Given the description of an element on the screen output the (x, y) to click on. 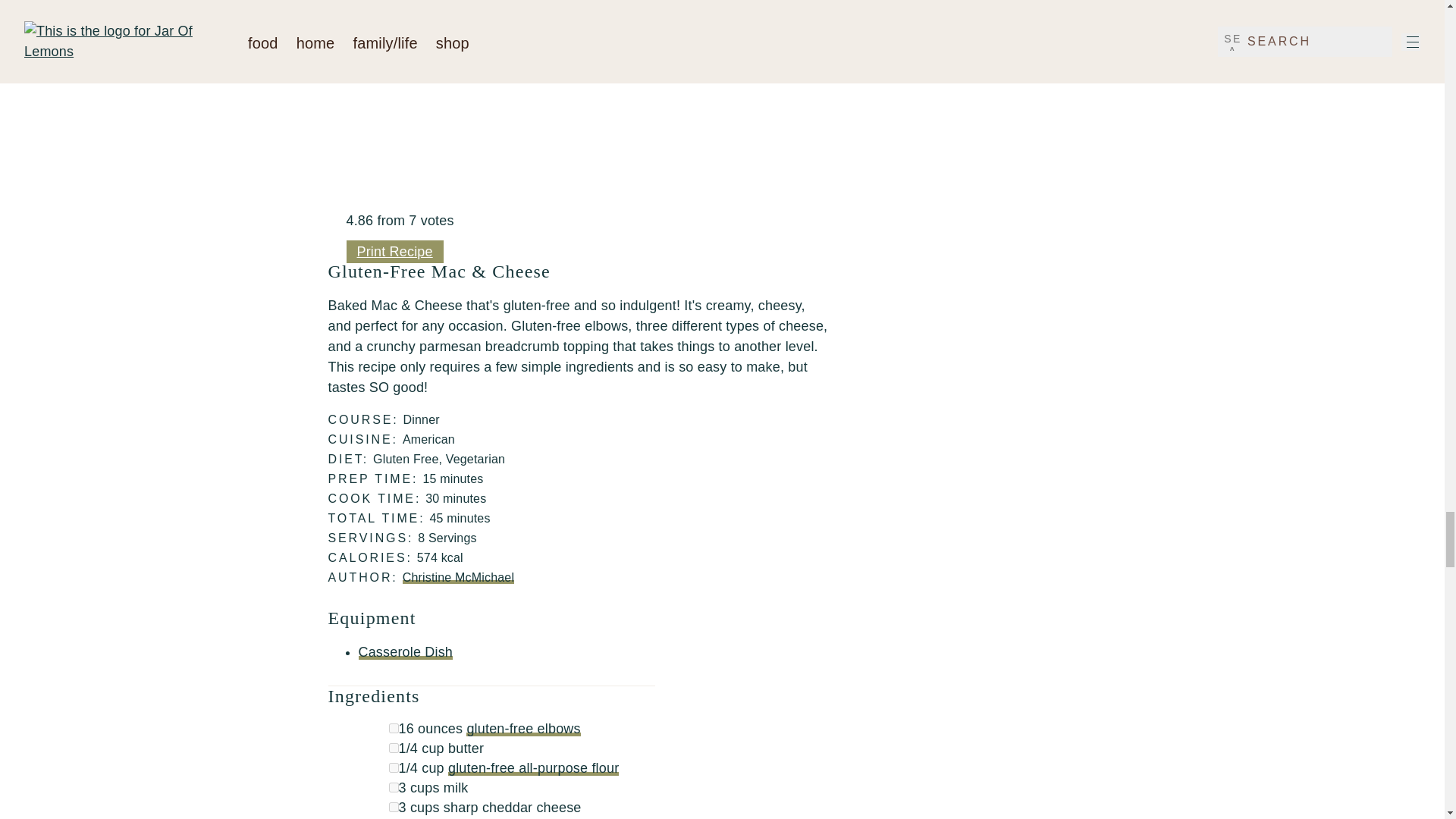
on (392, 787)
on (392, 767)
on (392, 728)
on (392, 807)
on (392, 747)
